Given the description of an element on the screen output the (x, y) to click on. 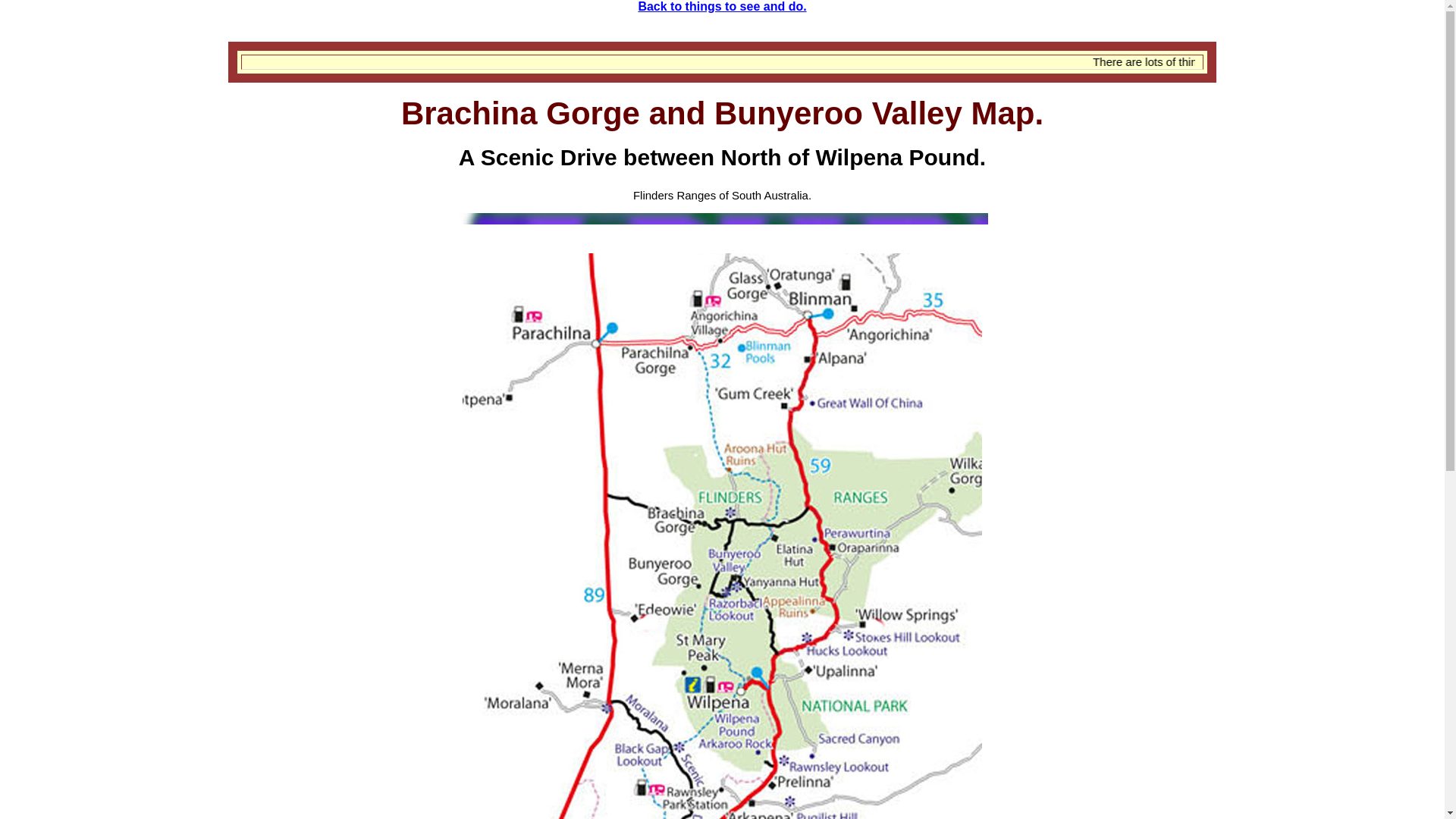
Back to things to see and do. Element type: text (721, 6)
